Given the description of an element on the screen output the (x, y) to click on. 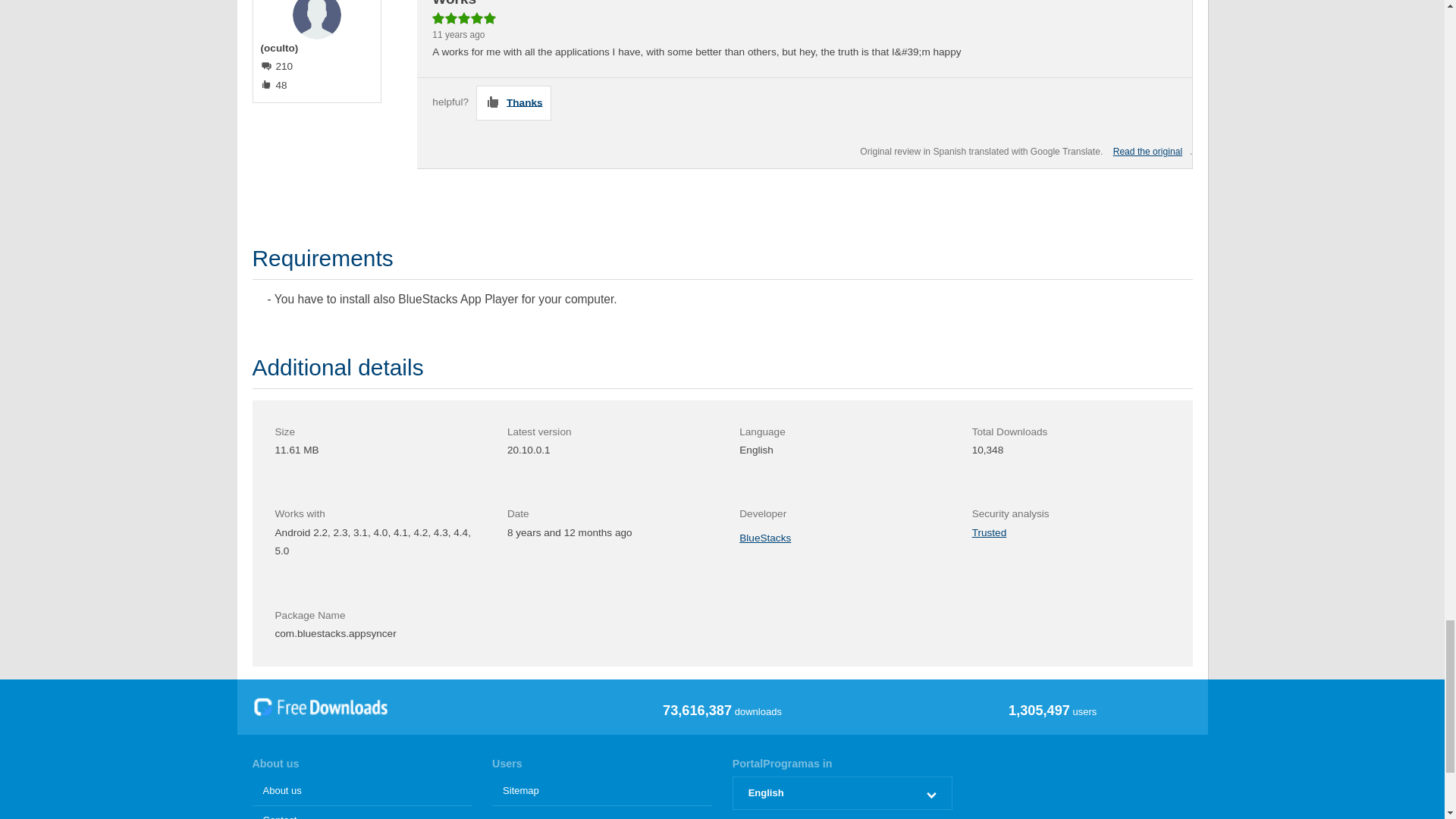
Read the original (1147, 152)
Contact (361, 812)
About us (361, 790)
Sitemap (601, 790)
BlueStacks (764, 538)
This opinion was helpful (513, 102)
Sitemap (601, 790)
About PortalProgramas (361, 790)
bluestacks cloud connect (1147, 152)
